Given the description of an element on the screen output the (x, y) to click on. 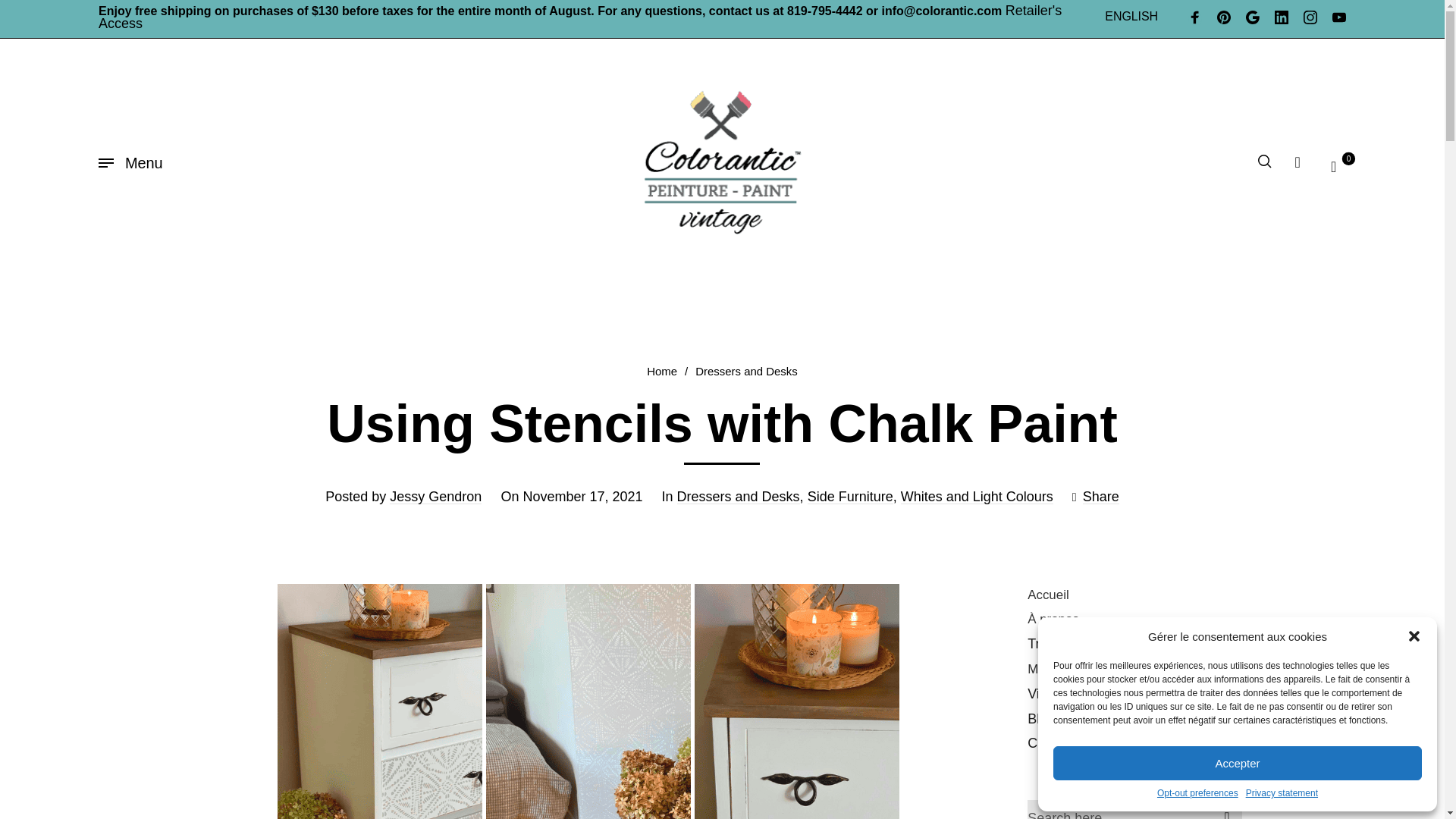
Pinterest (1223, 18)
Dressers and Desks (745, 370)
Instagram (1310, 18)
Facebook (1195, 18)
Dressers and Desks (738, 496)
Home (661, 370)
Google Plus (1252, 18)
Linkedin (1281, 18)
Opt-out preferences (1198, 793)
ENGLISH (1131, 17)
